Given the description of an element on the screen output the (x, y) to click on. 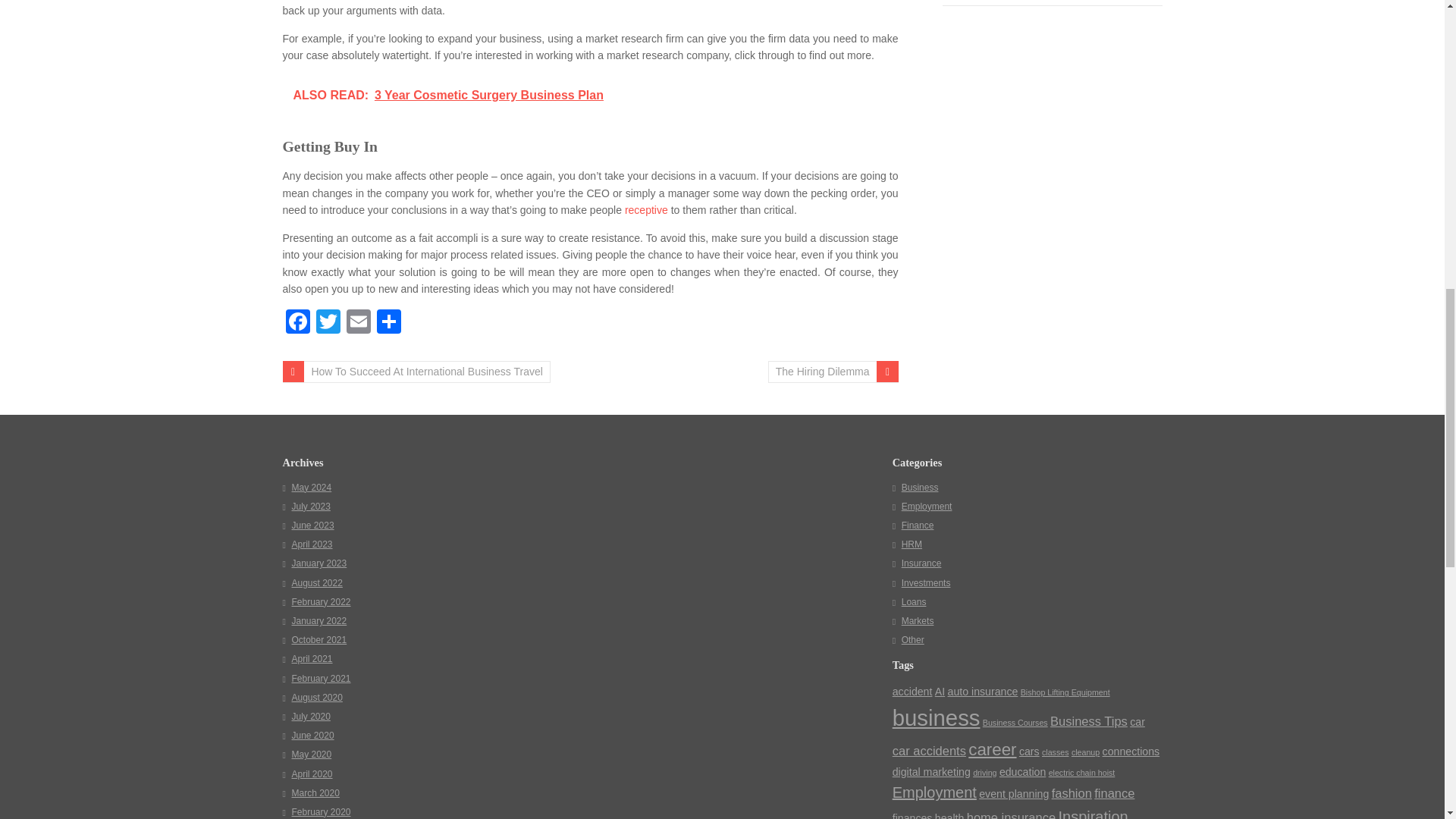
Twitter (327, 323)
Email (357, 323)
Facebook (297, 323)
receptive (646, 209)
How To Succeed At International Business Travel (416, 371)
Facebook (297, 323)
The Hiring Dilemma (833, 371)
Share (387, 323)
Email (357, 323)
ALSO READ:  3 Year Cosmetic Surgery Business Plan (590, 95)
Twitter (327, 323)
